Given the description of an element on the screen output the (x, y) to click on. 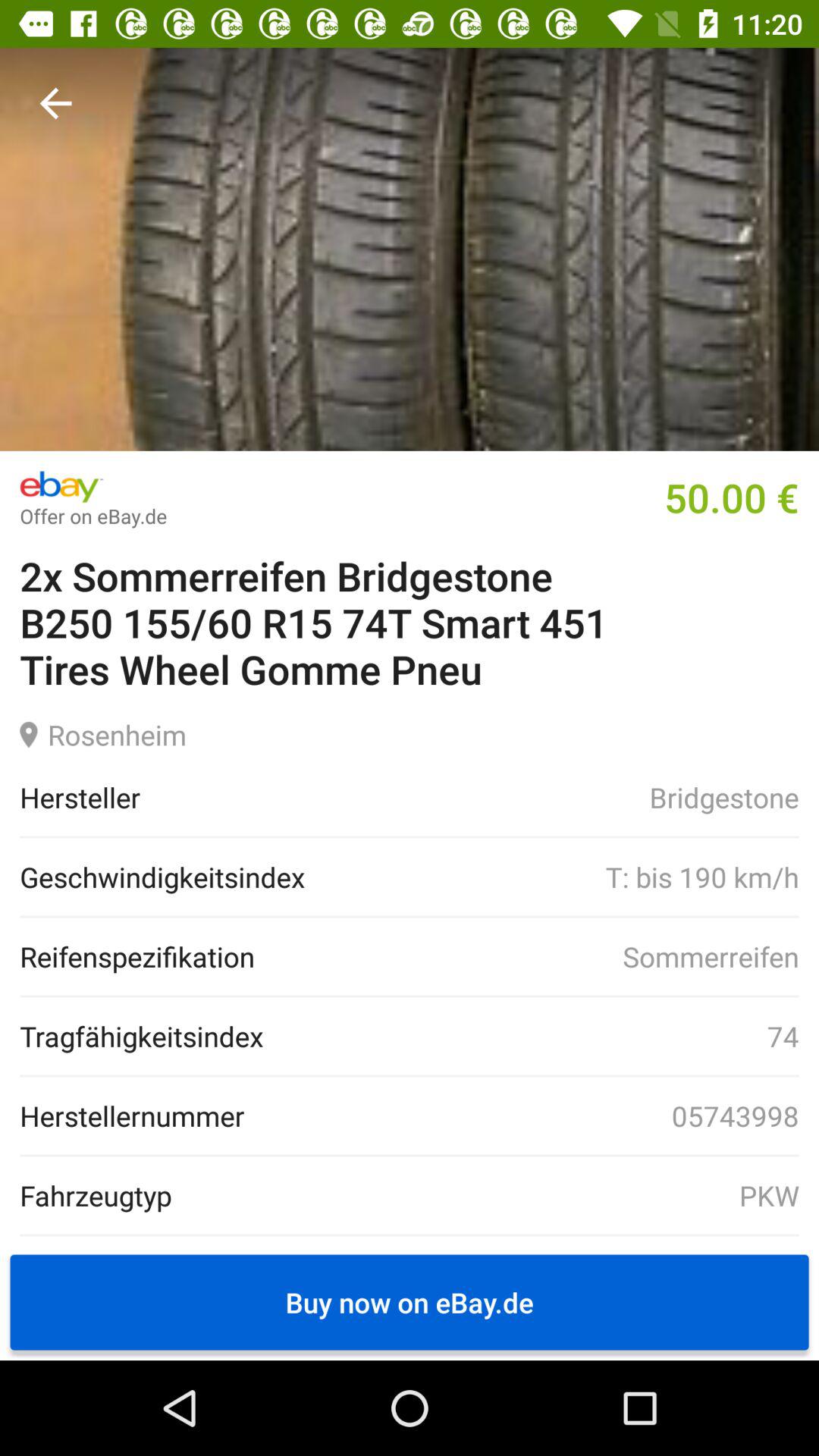
click the t bis 190 item (551, 876)
